Given the description of an element on the screen output the (x, y) to click on. 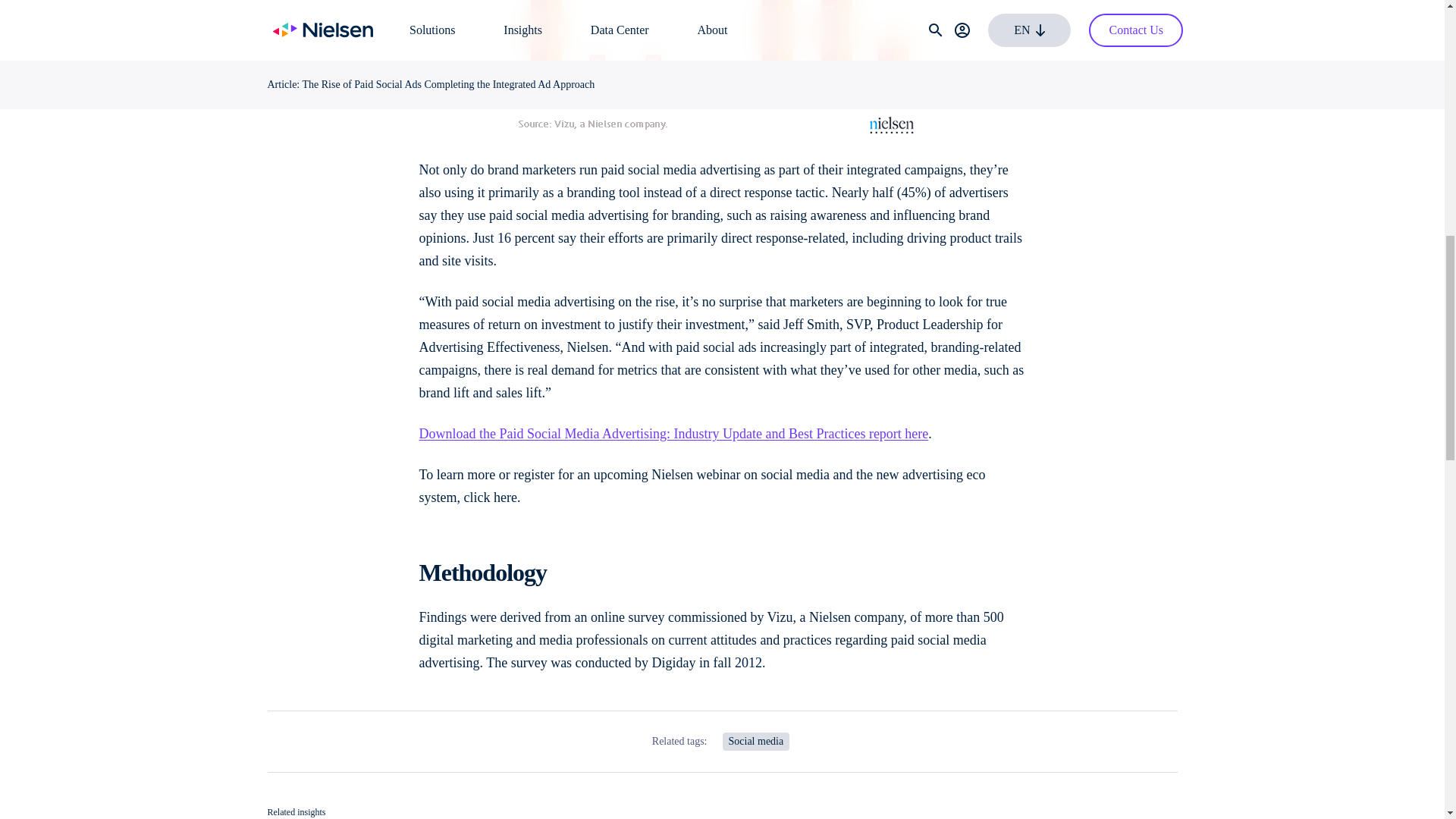
paid social pic (721, 70)
